Given the description of an element on the screen output the (x, y) to click on. 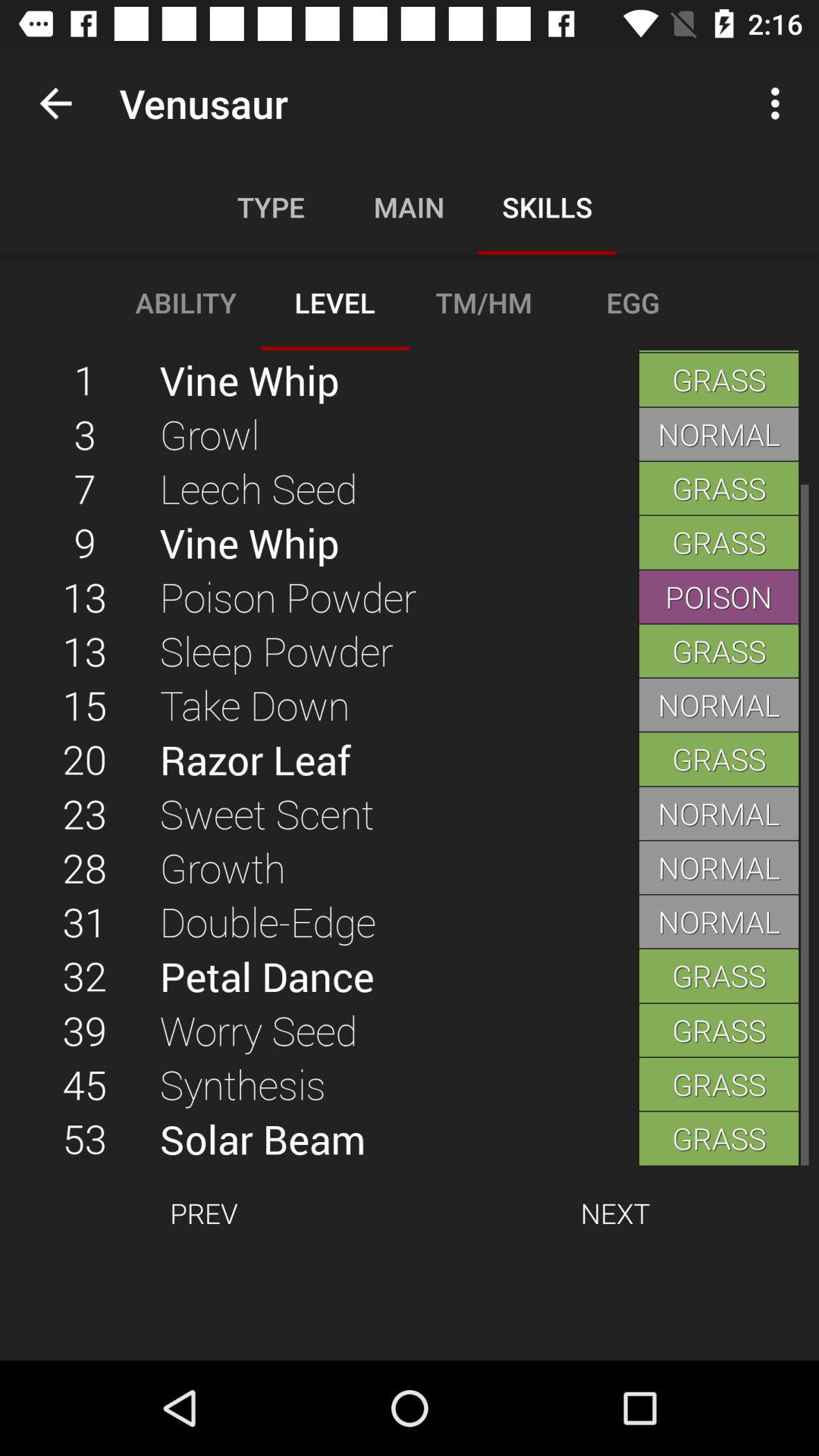
tap app next to venusaur icon (55, 103)
